Given the description of an element on the screen output the (x, y) to click on. 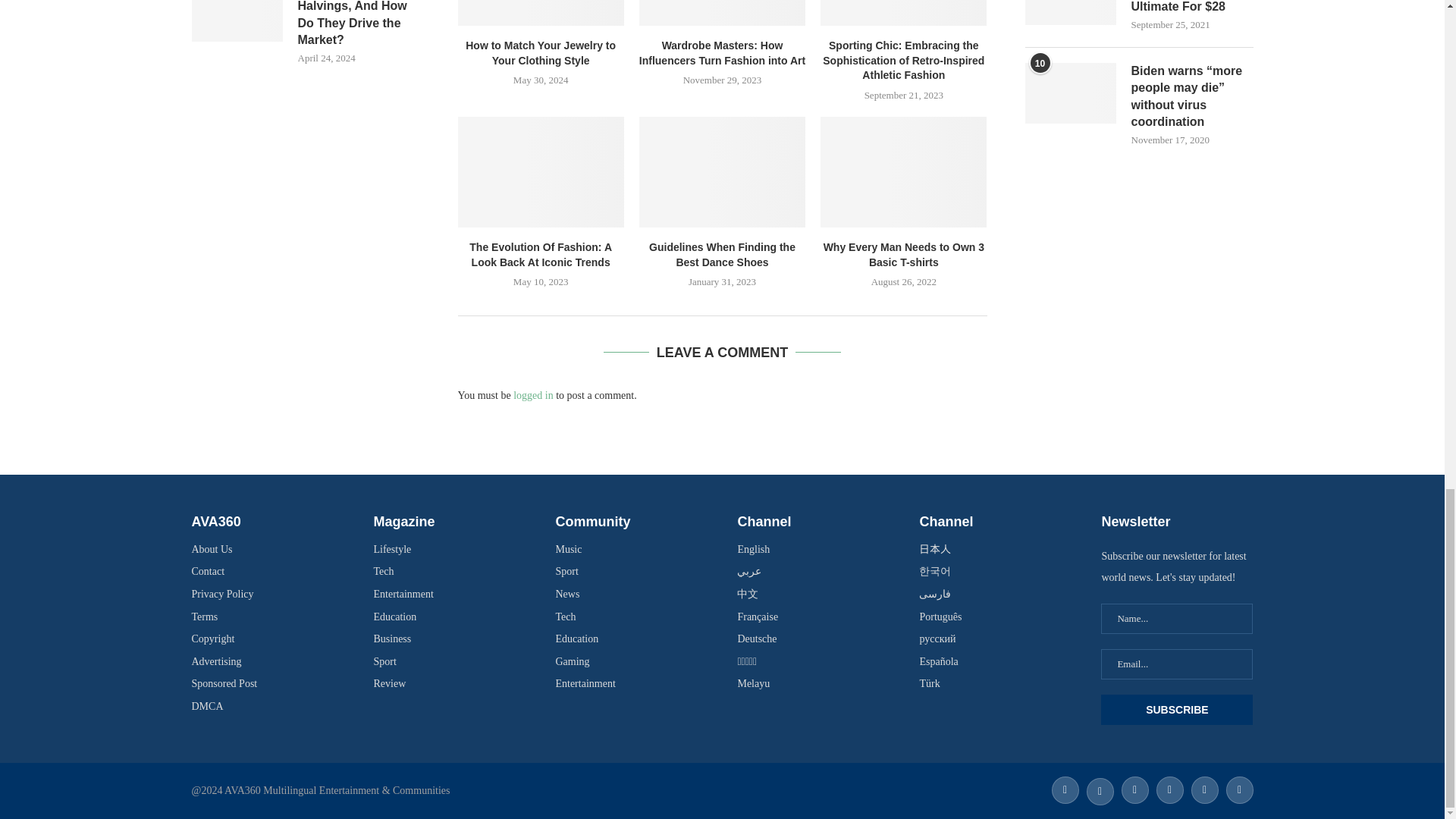
Guidelines When Finding the Best Dance Shoes (722, 172)
Wardrobe Masters: How Influencers Turn Fashion into Art (722, 12)
The Evolution Of Fashion: A Look Back At Iconic Trends (541, 172)
Subscribe (1176, 709)
How to Match Your Jewelry to Your Clothing Style (541, 12)
Why Every Man Needs to Own 3 Basic T-shirts (904, 172)
